Given the description of an element on the screen output the (x, y) to click on. 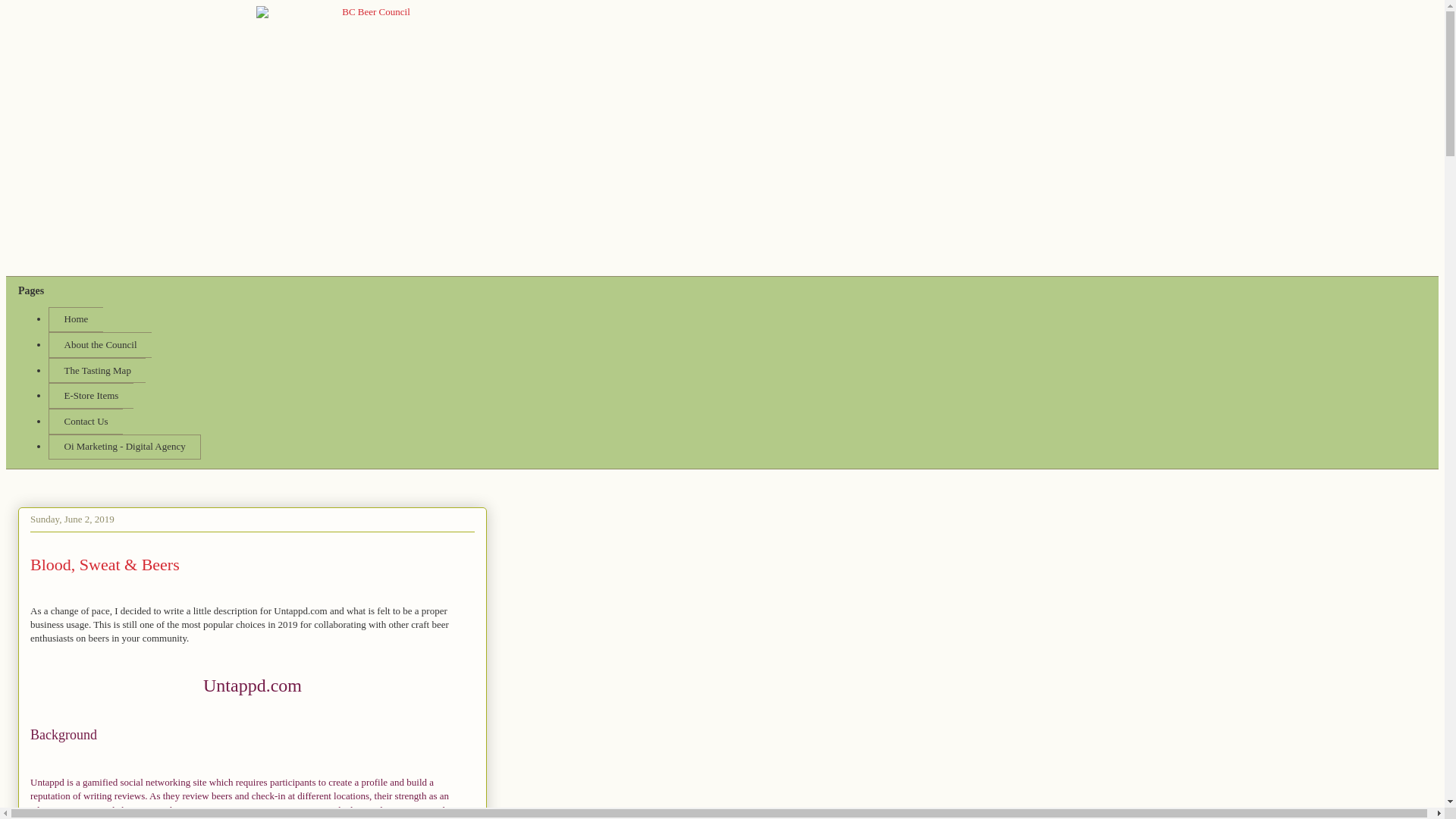
Contact Us (85, 421)
The Tasting Map (96, 370)
About the Council (99, 344)
E-Store Items (90, 395)
Oi Marketing - Digital Agency (124, 447)
Home (75, 319)
